Given the description of an element on the screen output the (x, y) to click on. 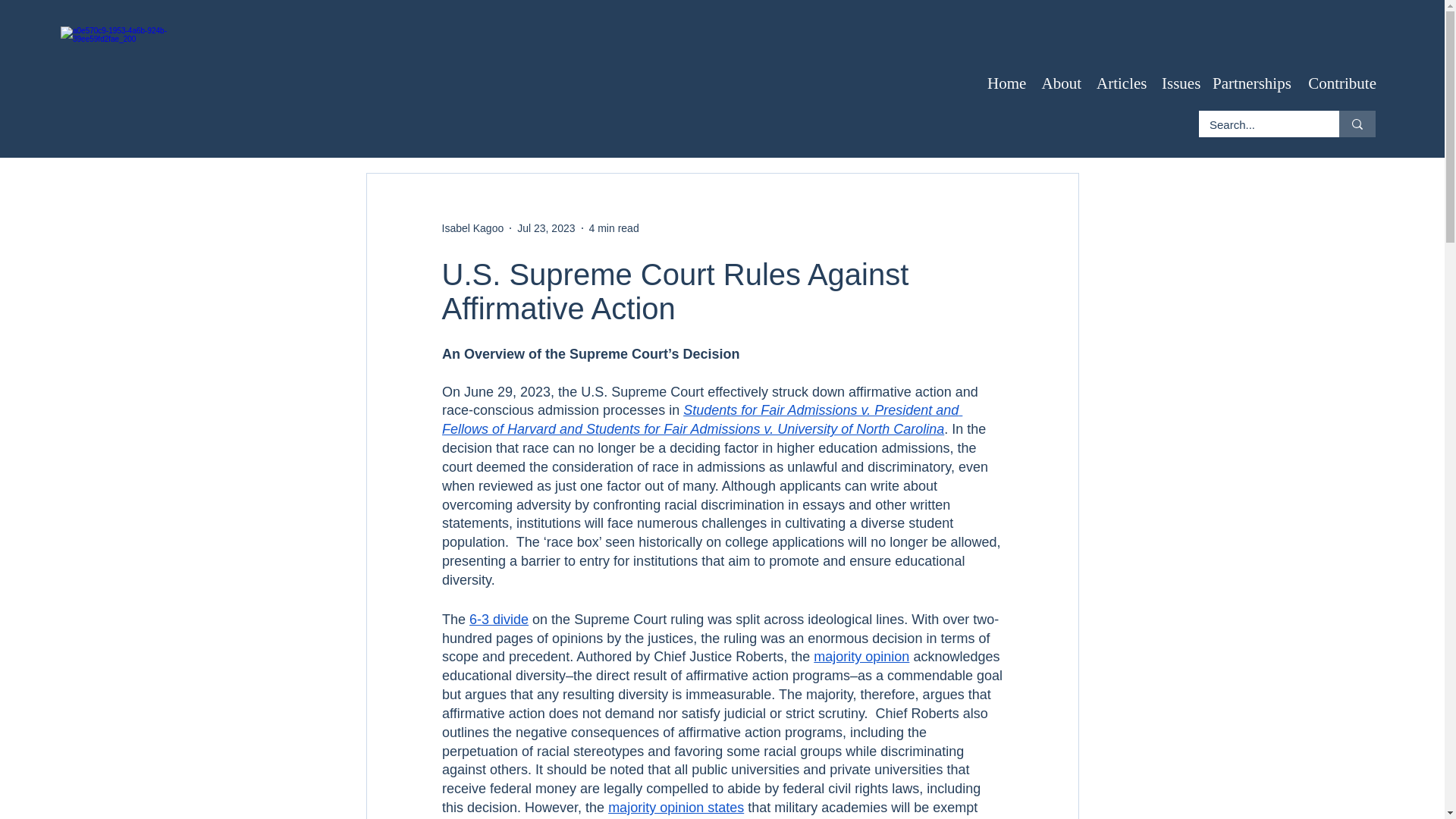
majority opinion states (676, 807)
Isabel Kagoo (472, 227)
4 min read (614, 227)
About (1061, 83)
majority opinion (860, 656)
Isabel Kagoo (472, 227)
6-3 divide (498, 619)
Partnerships (1251, 83)
Home (1006, 83)
